Given the description of an element on the screen output the (x, y) to click on. 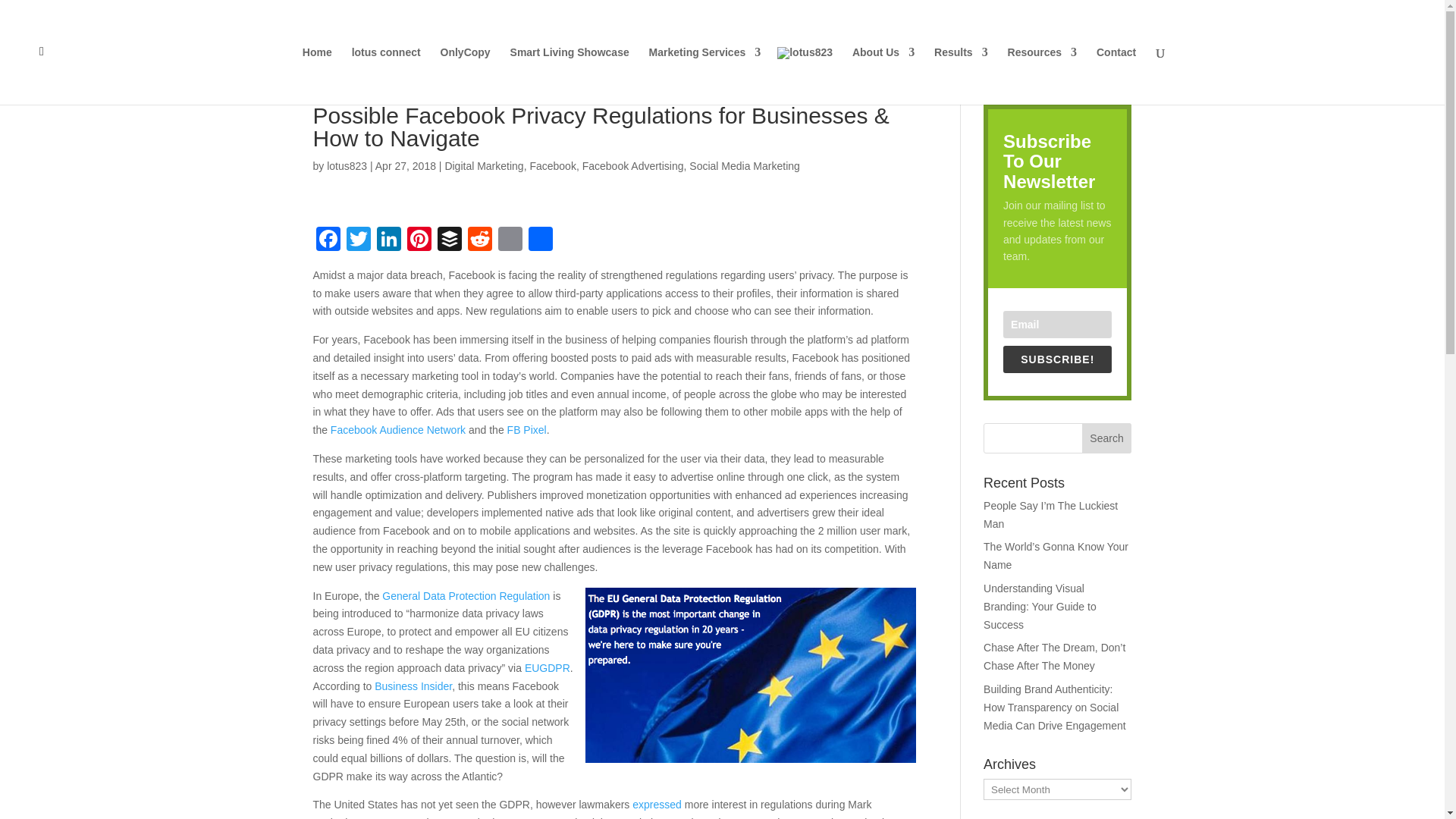
Twitter (357, 240)
Search (1106, 438)
Resources (1042, 75)
Marketing Services (705, 75)
Email (509, 240)
Pinterest (418, 240)
LinkedIn (387, 240)
Facebook (327, 240)
About Us (882, 75)
Buffer (448, 240)
